Given the description of an element on the screen output the (x, y) to click on. 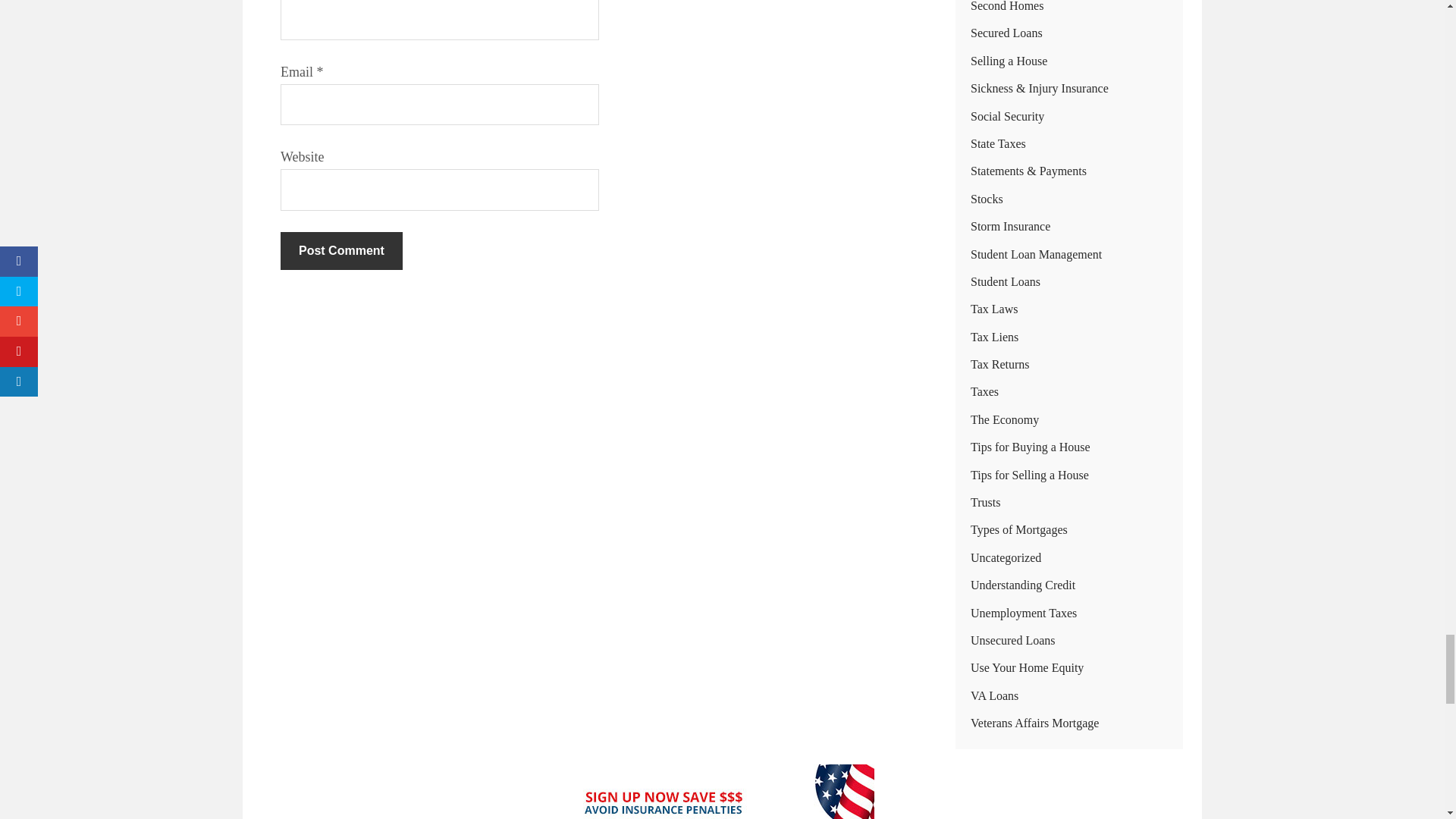
Post Comment (342, 250)
